Given the description of an element on the screen output the (x, y) to click on. 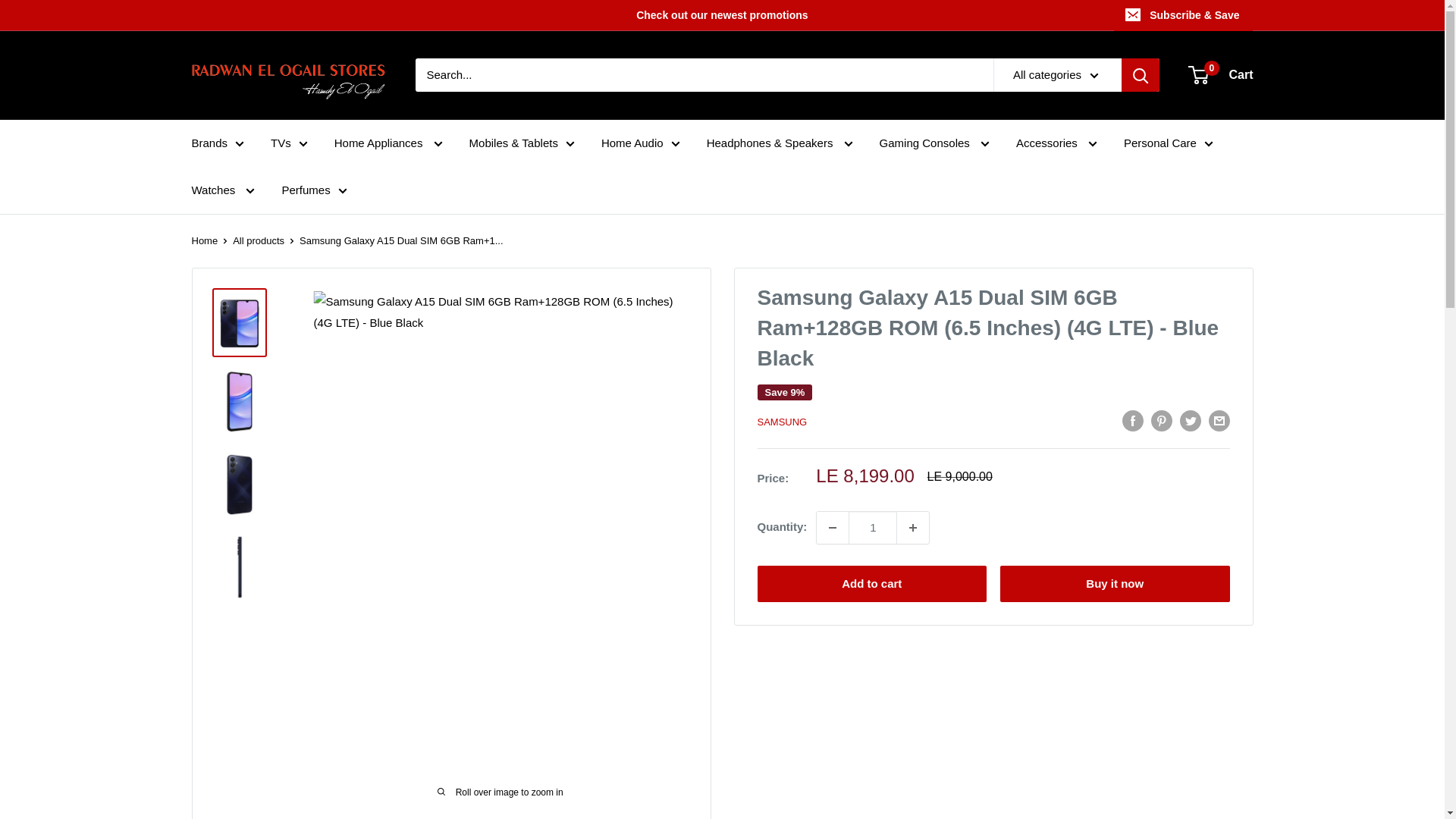
Decrease quantity by 1 (832, 526)
1 (872, 526)
Increase quantity by 1 (912, 526)
